Given the description of an element on the screen output the (x, y) to click on. 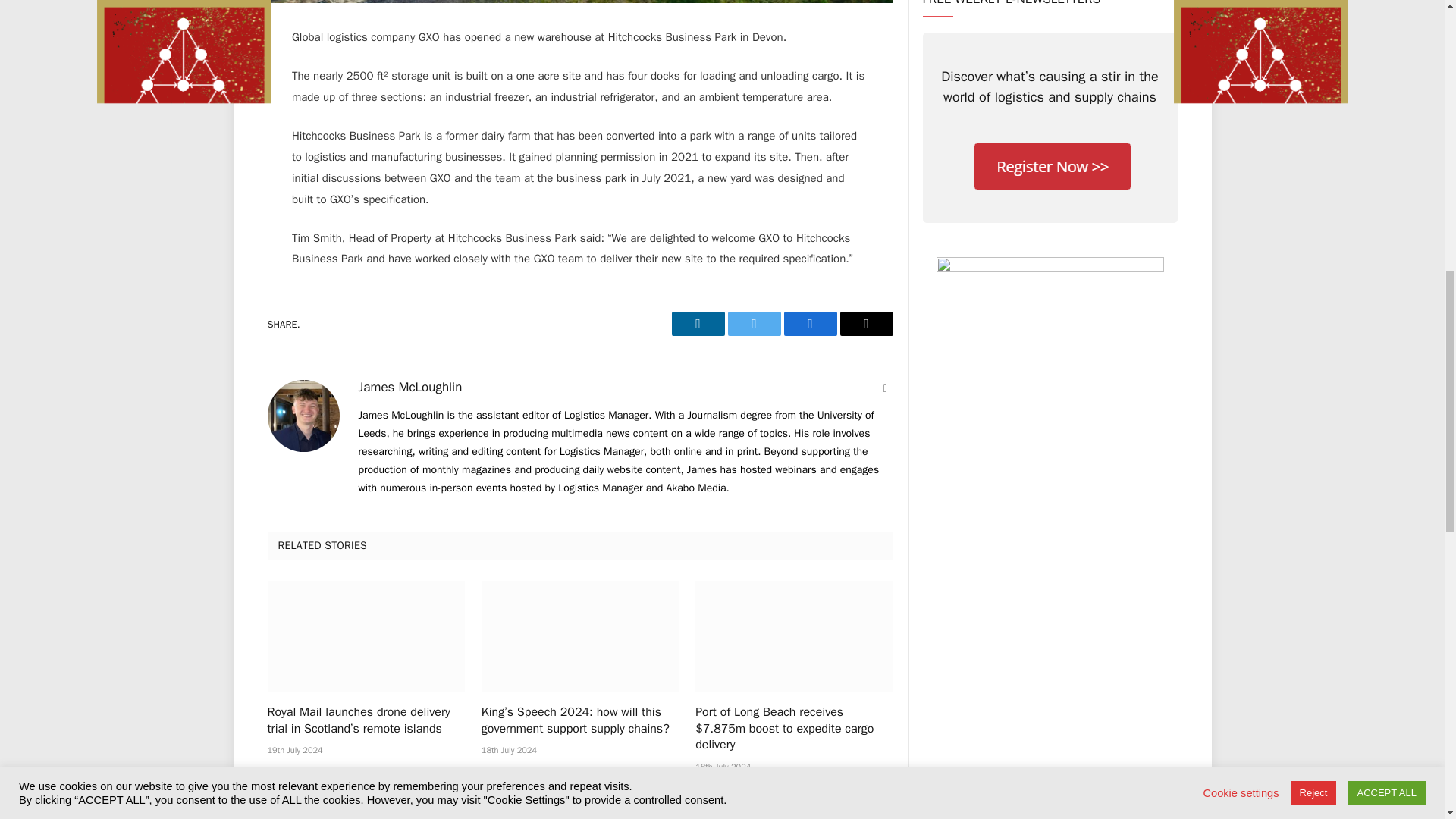
Share on LinkedIn (698, 323)
